Given the description of an element on the screen output the (x, y) to click on. 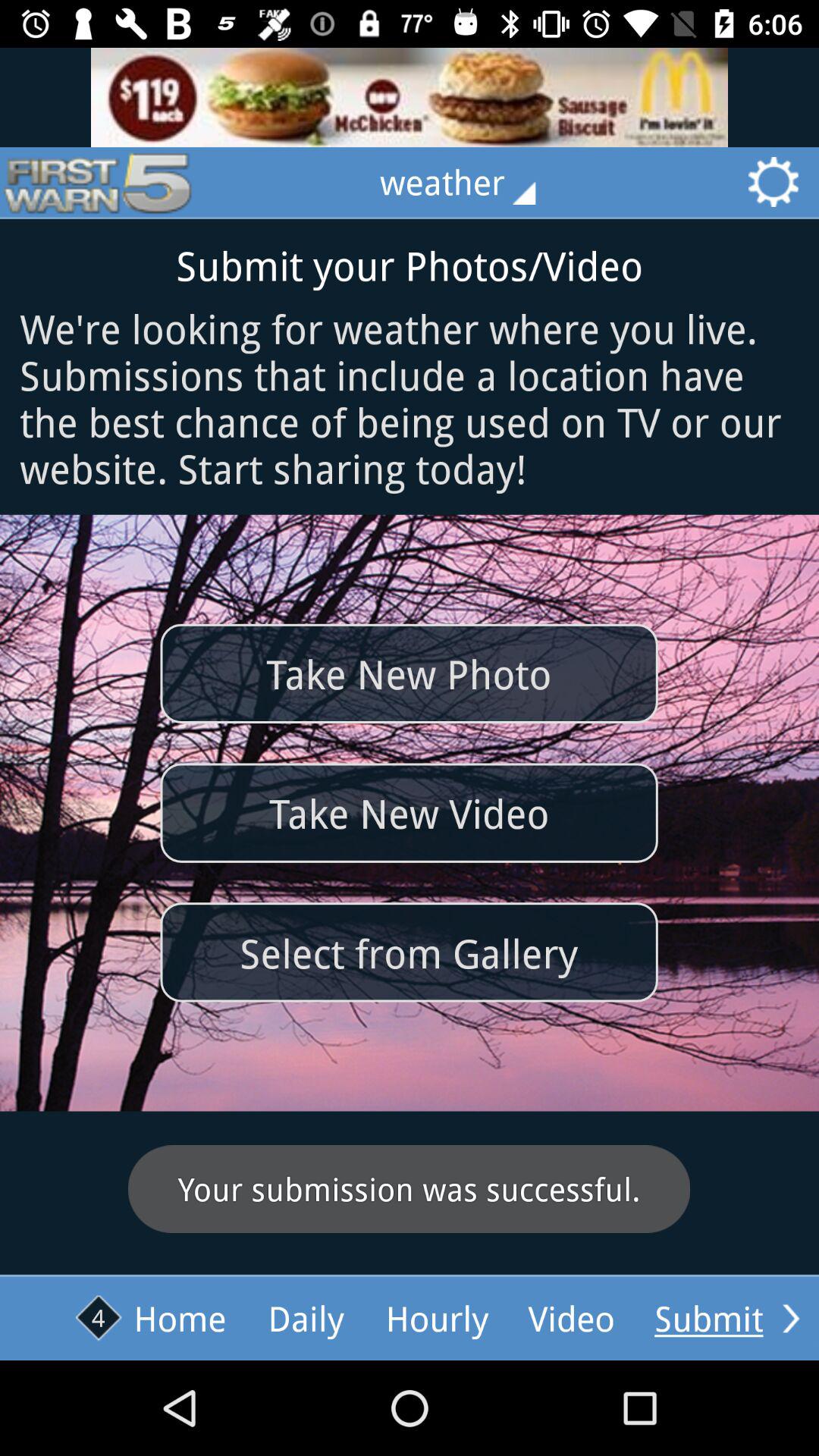
advertisement (409, 97)
